Given the description of an element on the screen output the (x, y) to click on. 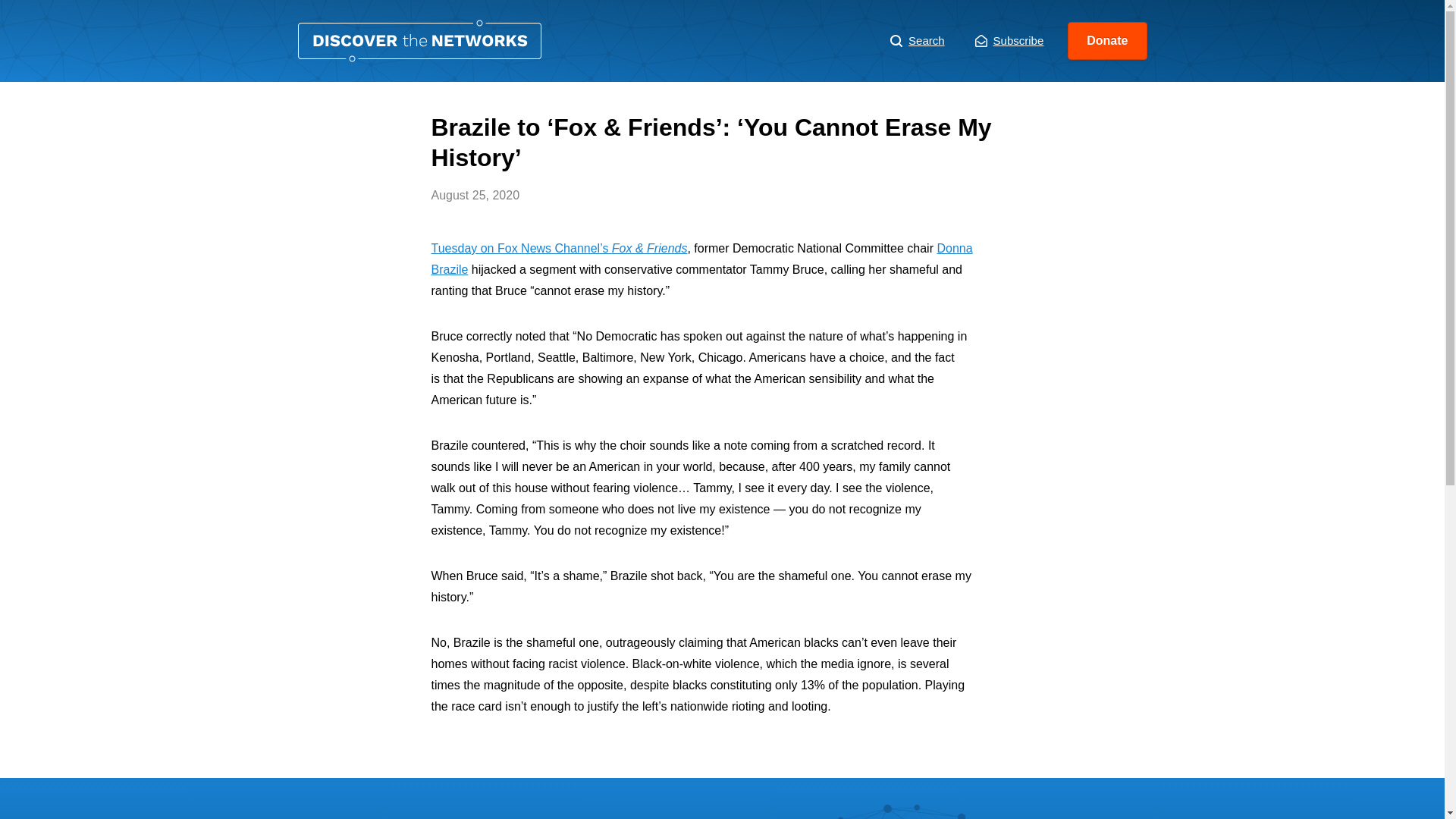
Search (916, 40)
Donna Brazile (701, 258)
Subscribe (1009, 40)
Donate (1107, 40)
